Given the description of an element on the screen output the (x, y) to click on. 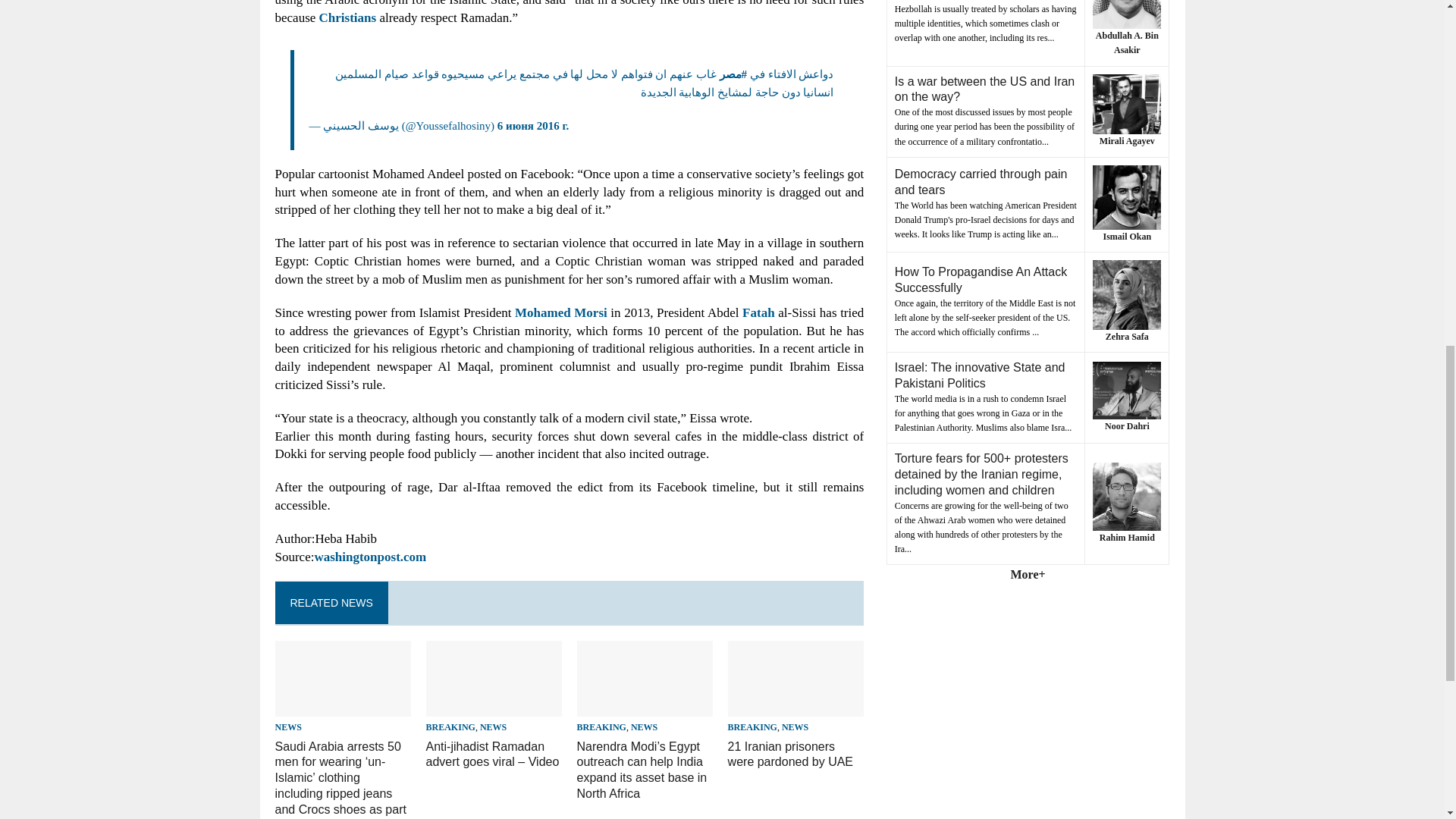
NEWS (288, 726)
Fatah (758, 312)
washingtonpost.com (370, 556)
Mohamed Morsi (561, 312)
Christians (347, 17)
